Given the description of an element on the screen output the (x, y) to click on. 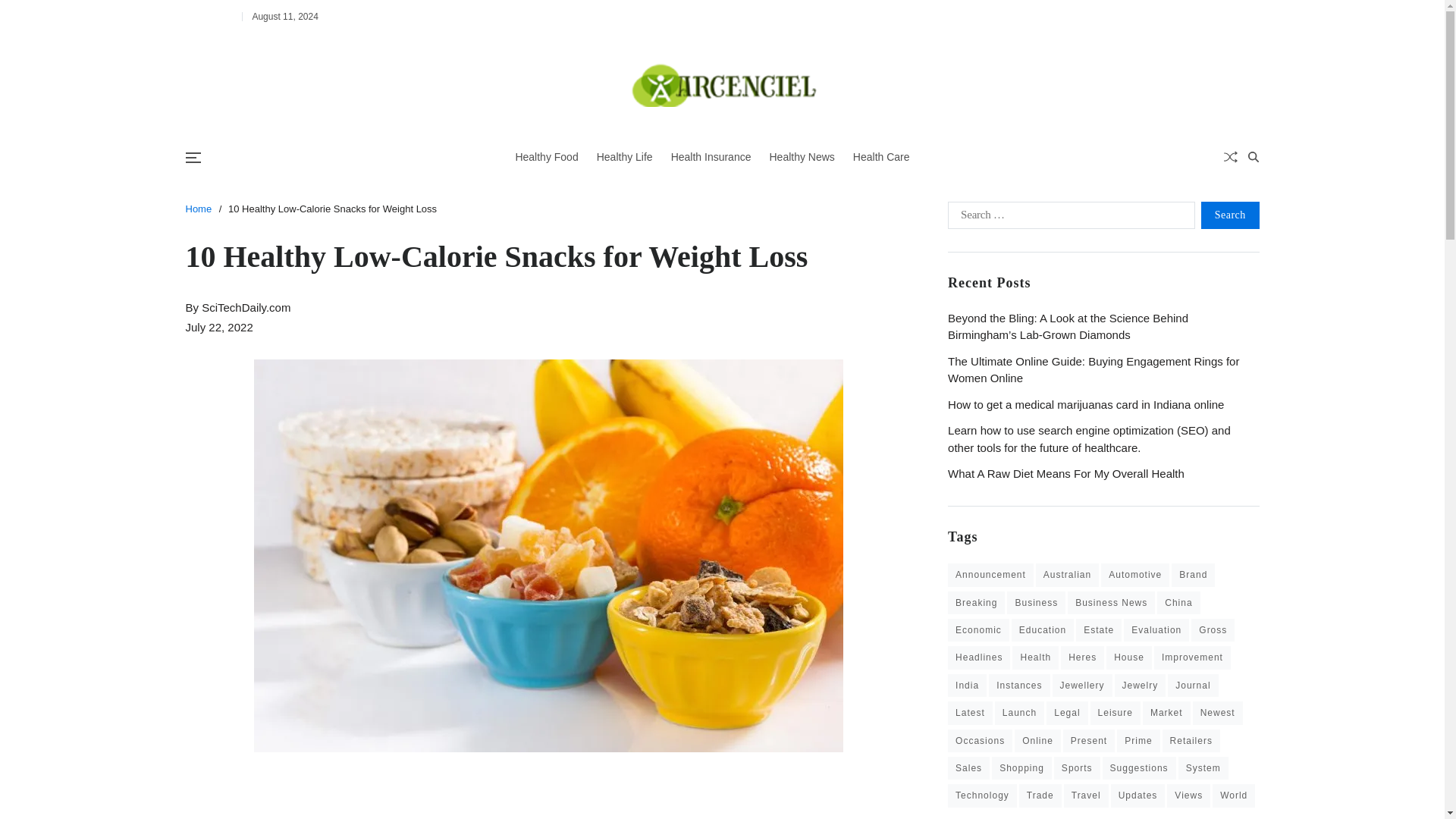
business (1036, 602)
Health Care (881, 157)
brand (1193, 574)
Business News (1110, 602)
Healthy News (801, 157)
Health Insurance (711, 157)
estate (1098, 630)
economic (978, 630)
Search (1215, 209)
